Given the description of an element on the screen output the (x, y) to click on. 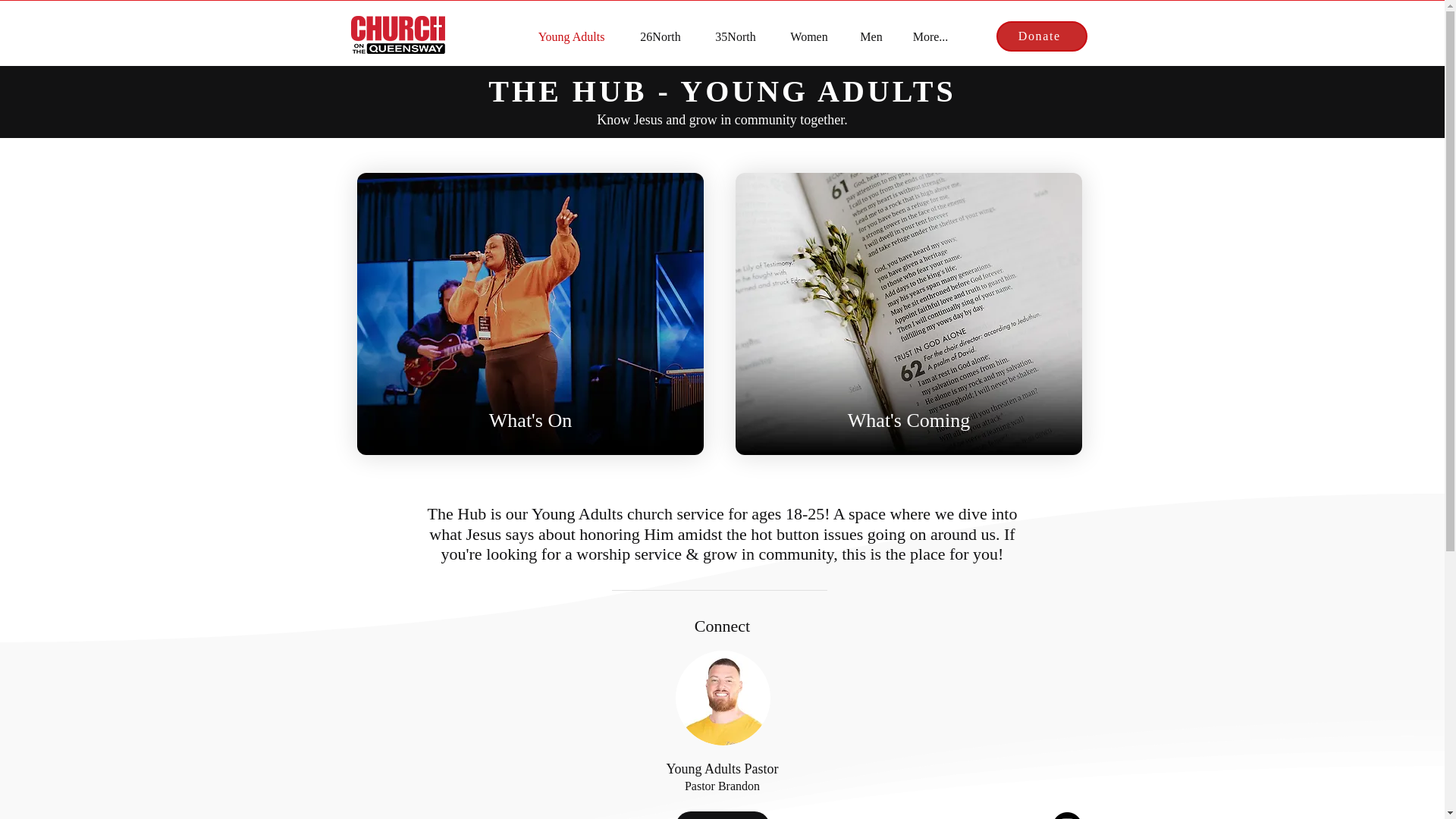
Men (870, 36)
Women (809, 36)
26North (660, 36)
Young Adults (571, 36)
Donate (1041, 36)
35North (735, 36)
Email (721, 815)
